Given the description of an element on the screen output the (x, y) to click on. 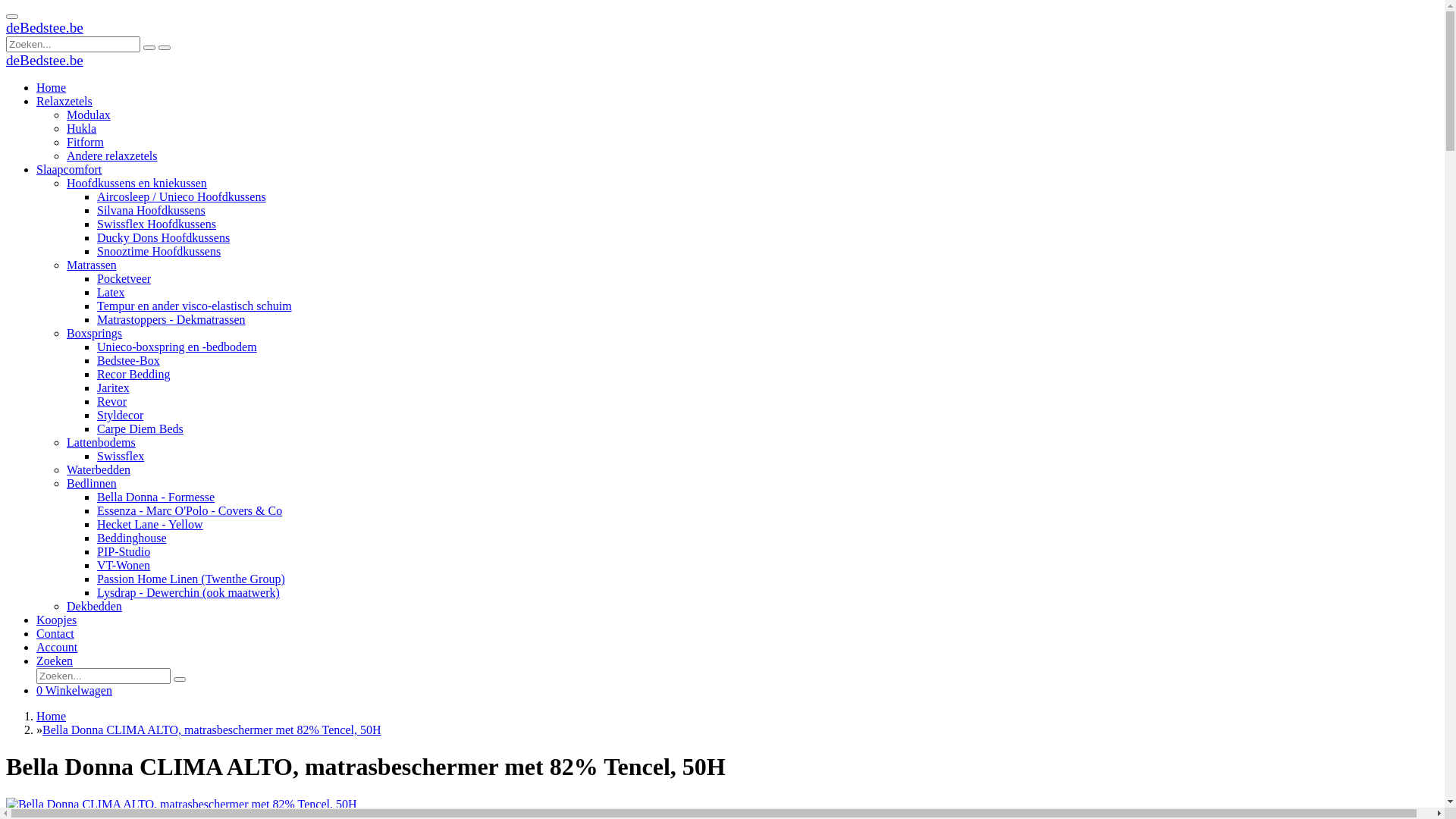
Hukla Element type: text (81, 128)
Lysdrap - Dewerchin (ook maatwerk) Element type: text (188, 592)
Matrastoppers - Dekmatrassen Element type: text (171, 319)
Snooztime Hoofdkussens Element type: text (158, 250)
Modulax Element type: text (88, 114)
Swissflex Hoofdkussens Element type: text (156, 223)
Bella Donna CLIMA ALTO, matrasbeschermer met 82% Tencel, 50H Element type: text (211, 729)
Silvana Hoofdkussens Element type: text (151, 209)
Boxsprings Element type: text (94, 332)
Latex Element type: text (110, 291)
Lattenbodems Element type: text (100, 442)
Bedstee-Box Element type: text (128, 360)
Dekbedden Element type: text (94, 605)
Home Element type: text (50, 715)
Relaxzetels Element type: text (64, 100)
Hoofdkussens en kniekussen Element type: text (136, 182)
Waterbedden Element type: text (98, 469)
Essenza - Marc O'Polo - Covers & Co Element type: text (189, 510)
Pocketveer Element type: text (123, 278)
VT-Wonen Element type: text (123, 564)
Hecket Lane - Yellow Element type: text (150, 523)
deBedstee.be Element type: text (44, 60)
PIP-Studio Element type: text (123, 551)
Styldecor Element type: text (120, 414)
Tempur en ander visco-elastisch schuim Element type: text (194, 305)
Zoeken Element type: text (54, 660)
Passion Home Linen (Twenthe Group) Element type: text (191, 578)
Koopjes Element type: text (56, 619)
Matrassen Element type: text (91, 264)
Account Element type: text (56, 646)
Contact Element type: text (55, 633)
Jaritex Element type: text (113, 387)
Swissflex Element type: text (120, 455)
deBedstee.be Element type: text (44, 27)
Bedlinnen Element type: text (91, 482)
Revor Element type: text (111, 401)
Fitform Element type: text (84, 141)
Slaapcomfort Element type: text (68, 169)
0 Winkelwagen Element type: text (74, 690)
Unieco-boxspring en -bedbodem Element type: text (177, 346)
Bella Donna - Formesse Element type: text (155, 496)
Aircosleep / Unieco Hoofdkussens Element type: text (181, 196)
Beddinghouse Element type: text (131, 537)
Recor Bedding Element type: text (133, 373)
Ducky Dons Hoofdkussens Element type: text (163, 237)
Carpe Diem Beds Element type: text (140, 428)
Andere relaxzetels Element type: text (111, 155)
Home Element type: text (50, 87)
